Given the description of an element on the screen output the (x, y) to click on. 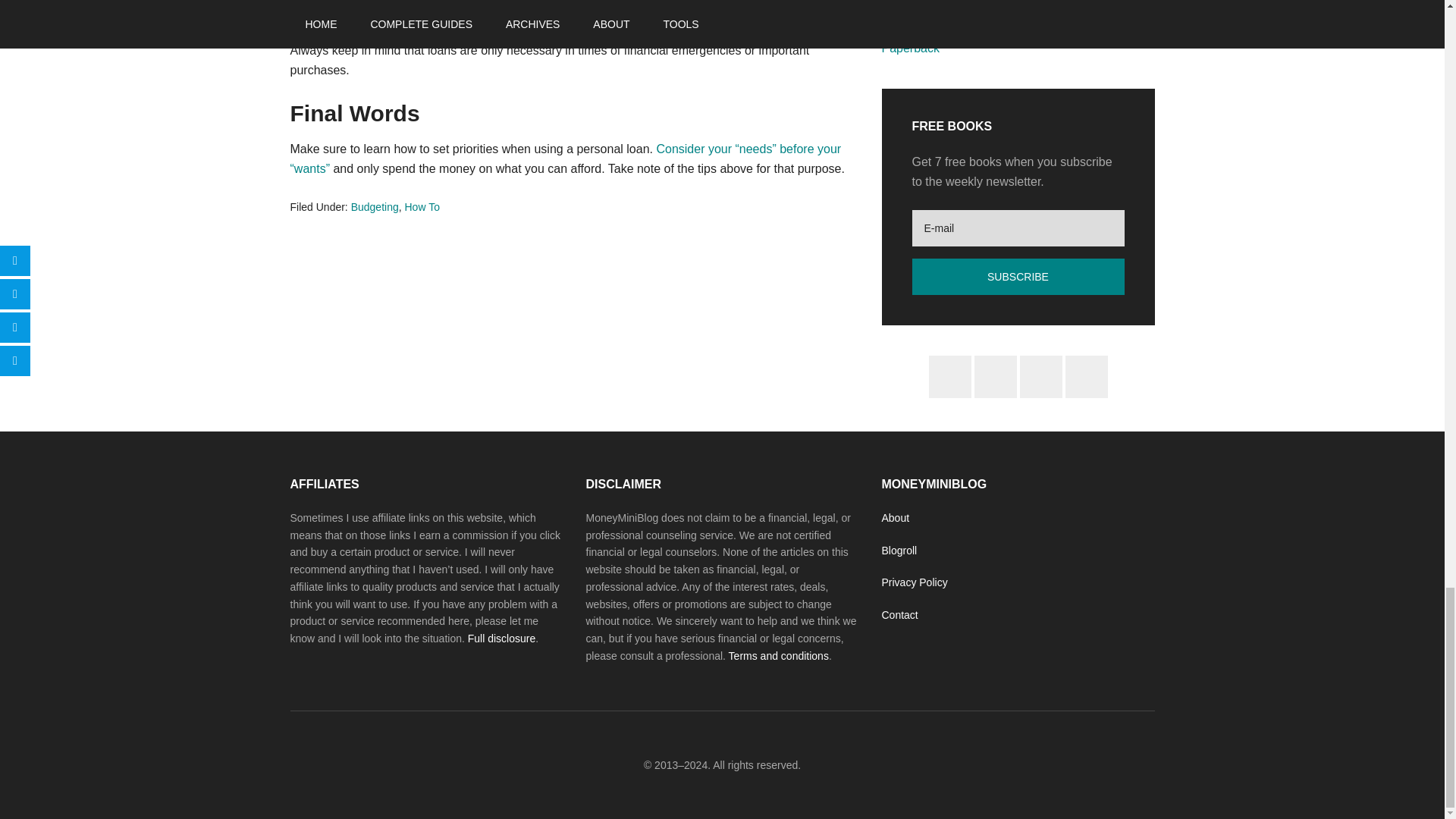
Subscribe (1017, 276)
